Given the description of an element on the screen output the (x, y) to click on. 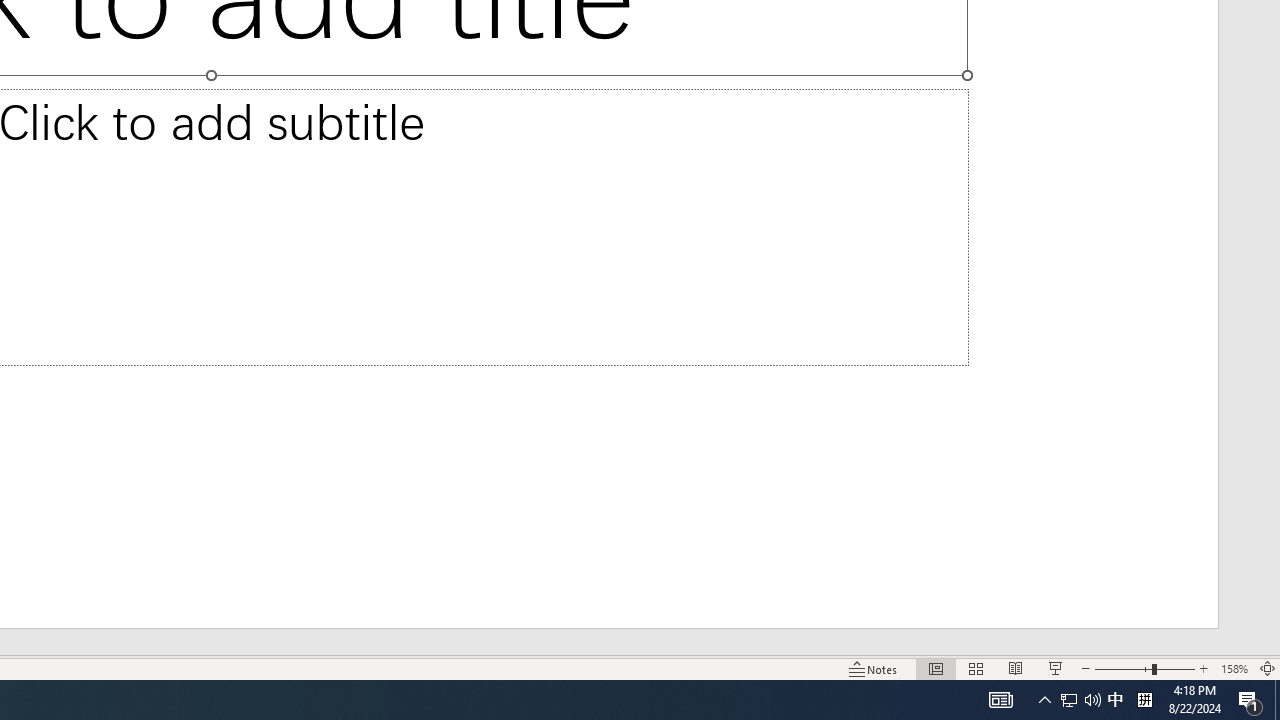
Zoom 158% (1234, 668)
